Given the description of an element on the screen output the (x, y) to click on. 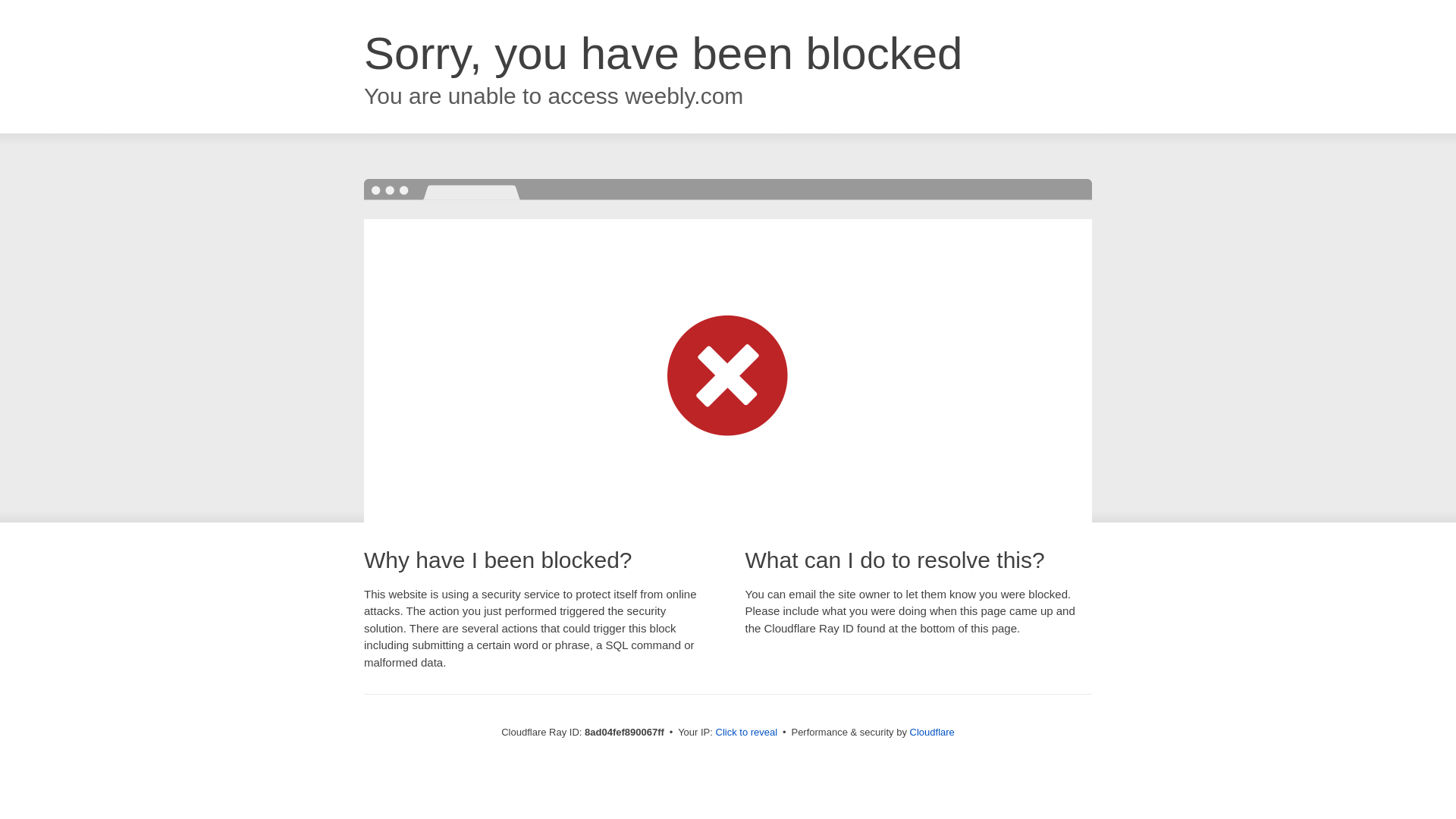
Click to reveal (746, 732)
Cloudflare (932, 731)
